Given the description of an element on the screen output the (x, y) to click on. 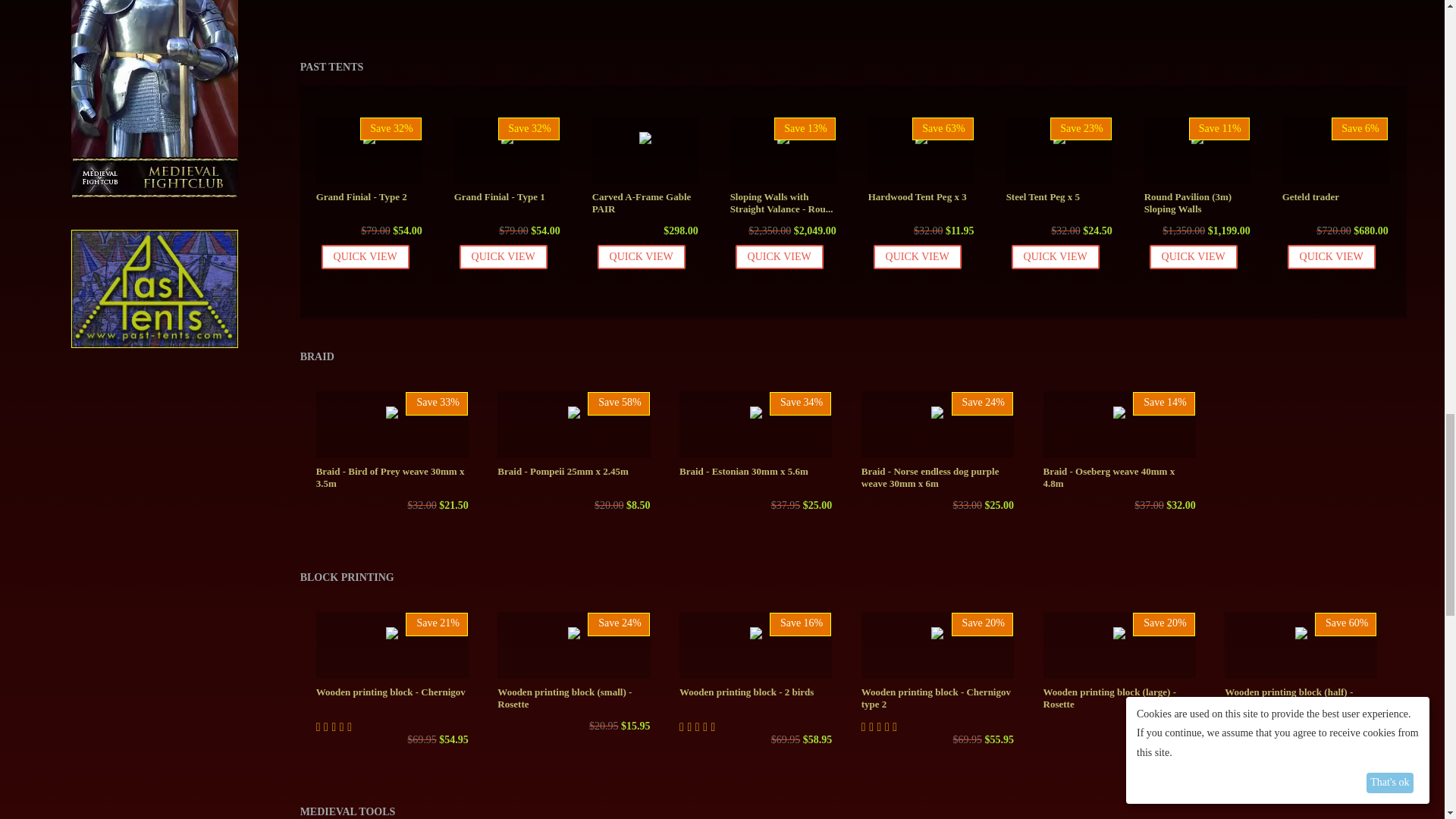
Click to visit Past Tents (154, 276)
